Given the description of an element on the screen output the (x, y) to click on. 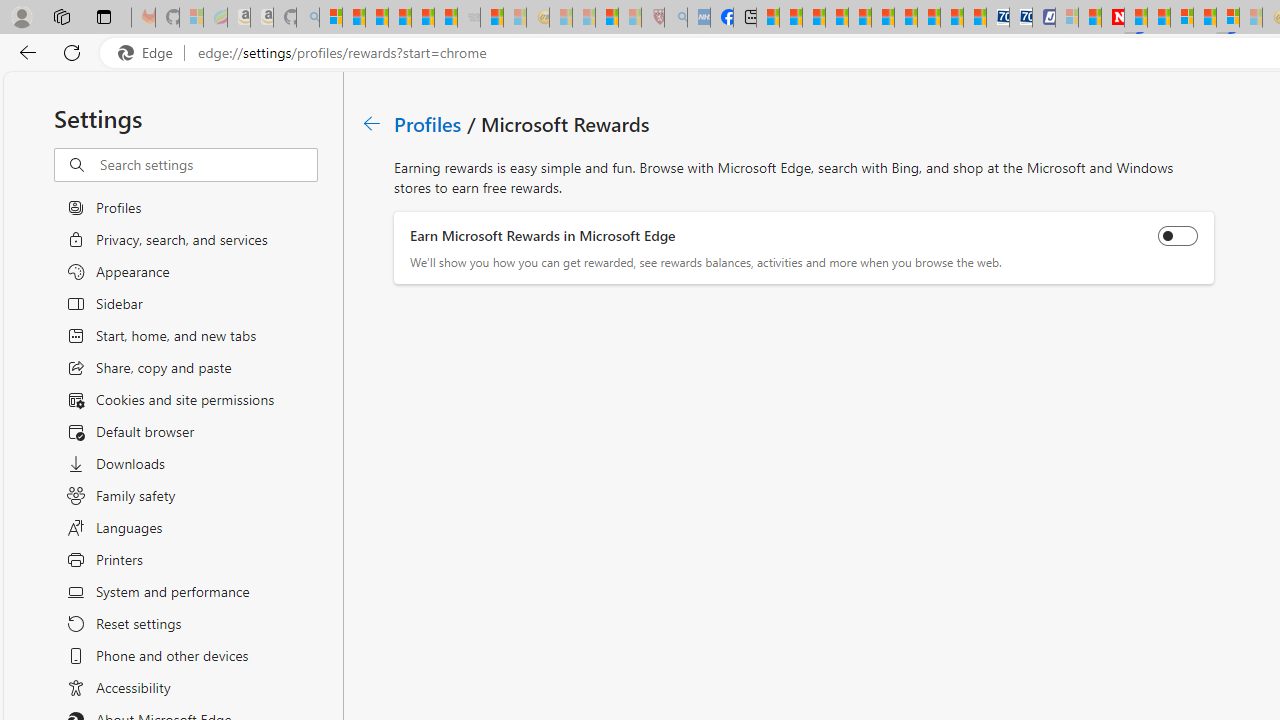
14 Common Myths Debunked By Scientific Facts (1158, 17)
The Weather Channel - MSN (376, 17)
